Given the description of an element on the screen output the (x, y) to click on. 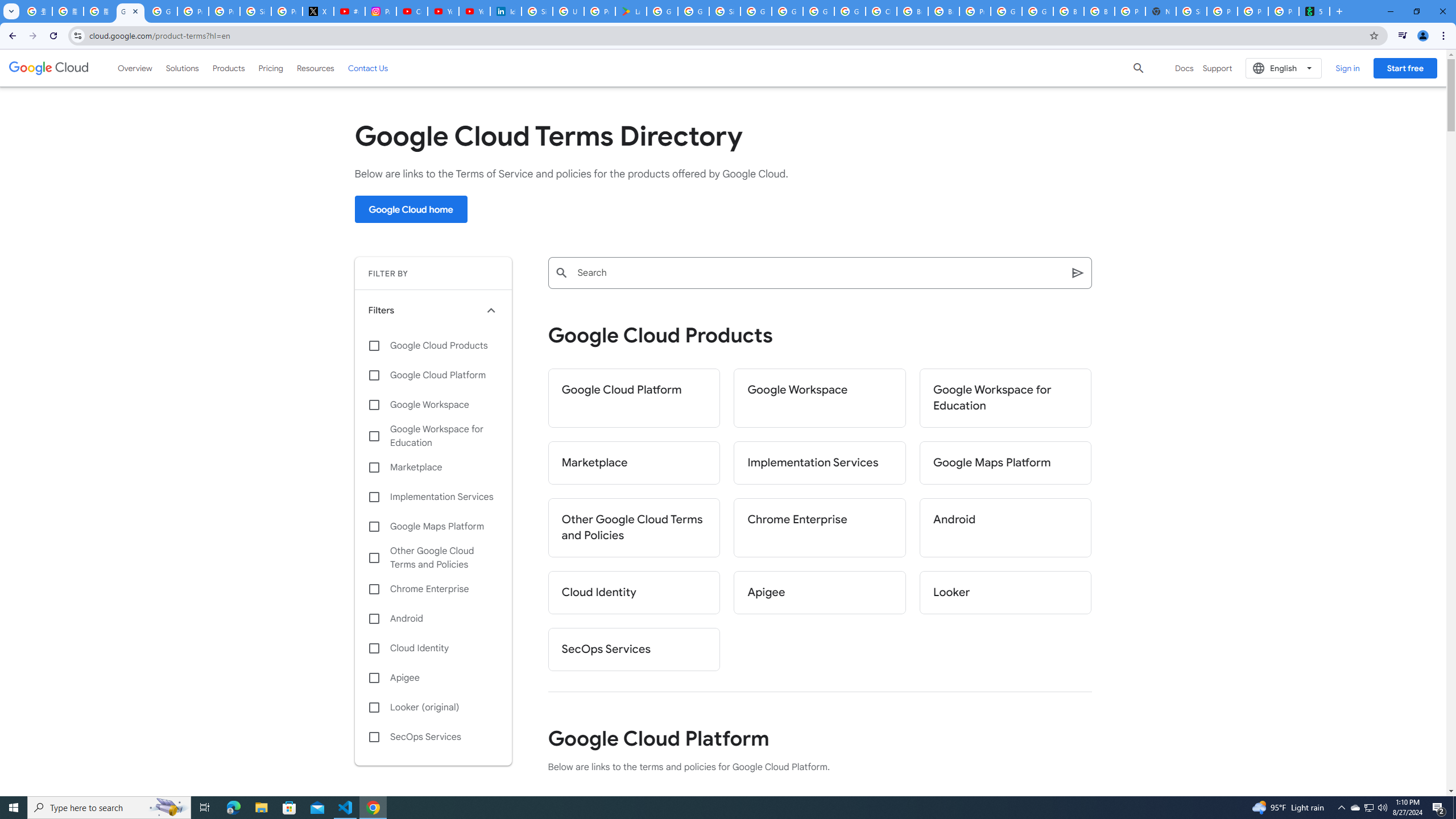
SecOps Services (432, 736)
Filters keyboard_arrow_up (432, 309)
Marketplace (432, 467)
Google Cloud Platform (1037, 11)
Products (228, 67)
Support (1216, 67)
Implementation Services (819, 462)
